Given the description of an element on the screen output the (x, y) to click on. 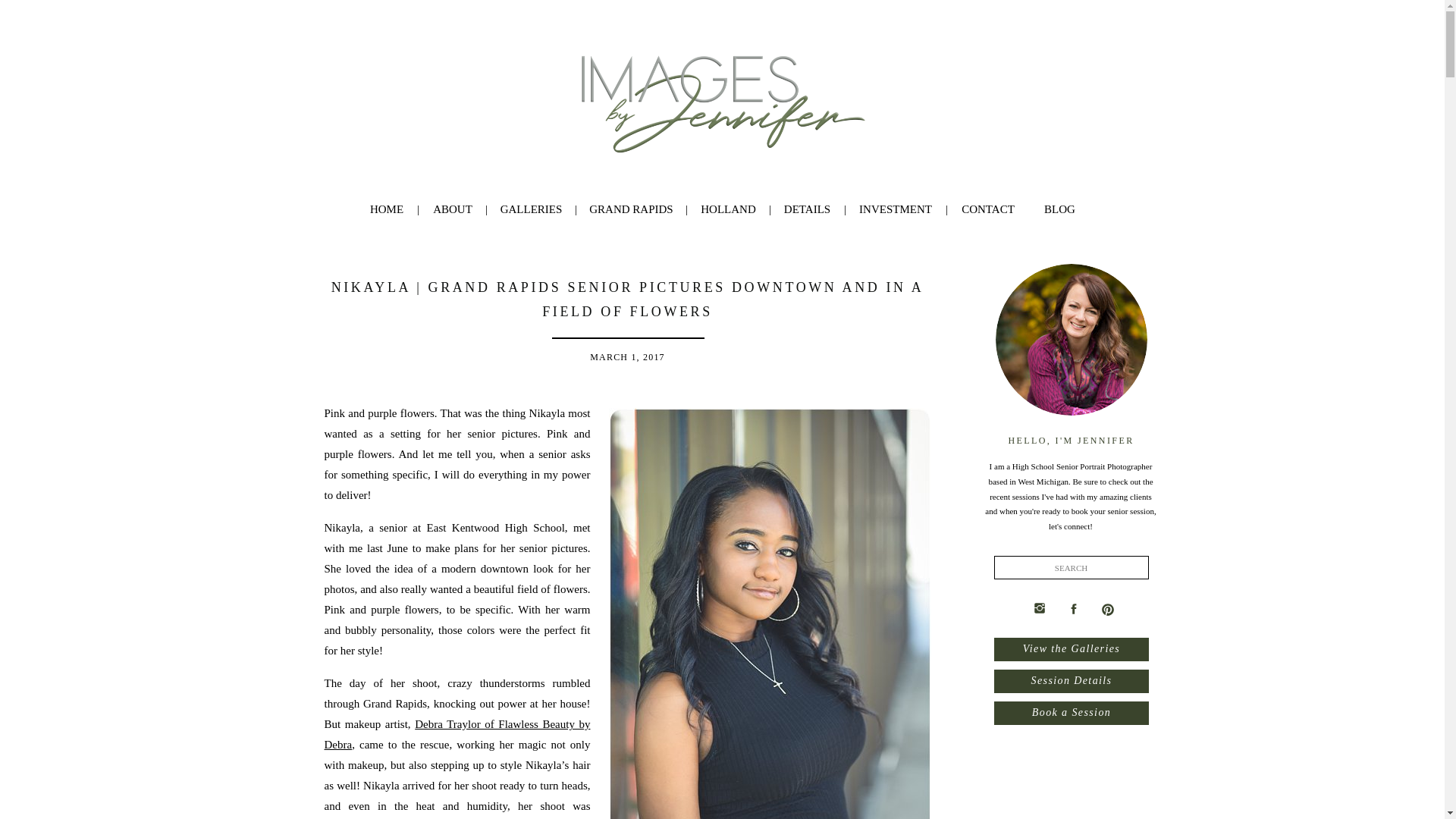
CONTACT (986, 208)
BLOG (1059, 208)
GRAND RAPIDS (631, 208)
HOME (386, 208)
DETAILS (807, 208)
ABOUT (453, 208)
INVESTMENT (895, 208)
HOLLAND (728, 208)
Debra Traylor of Flawless Beauty by Debra (457, 734)
GALLERIES (530, 208)
